Given the description of an element on the screen output the (x, y) to click on. 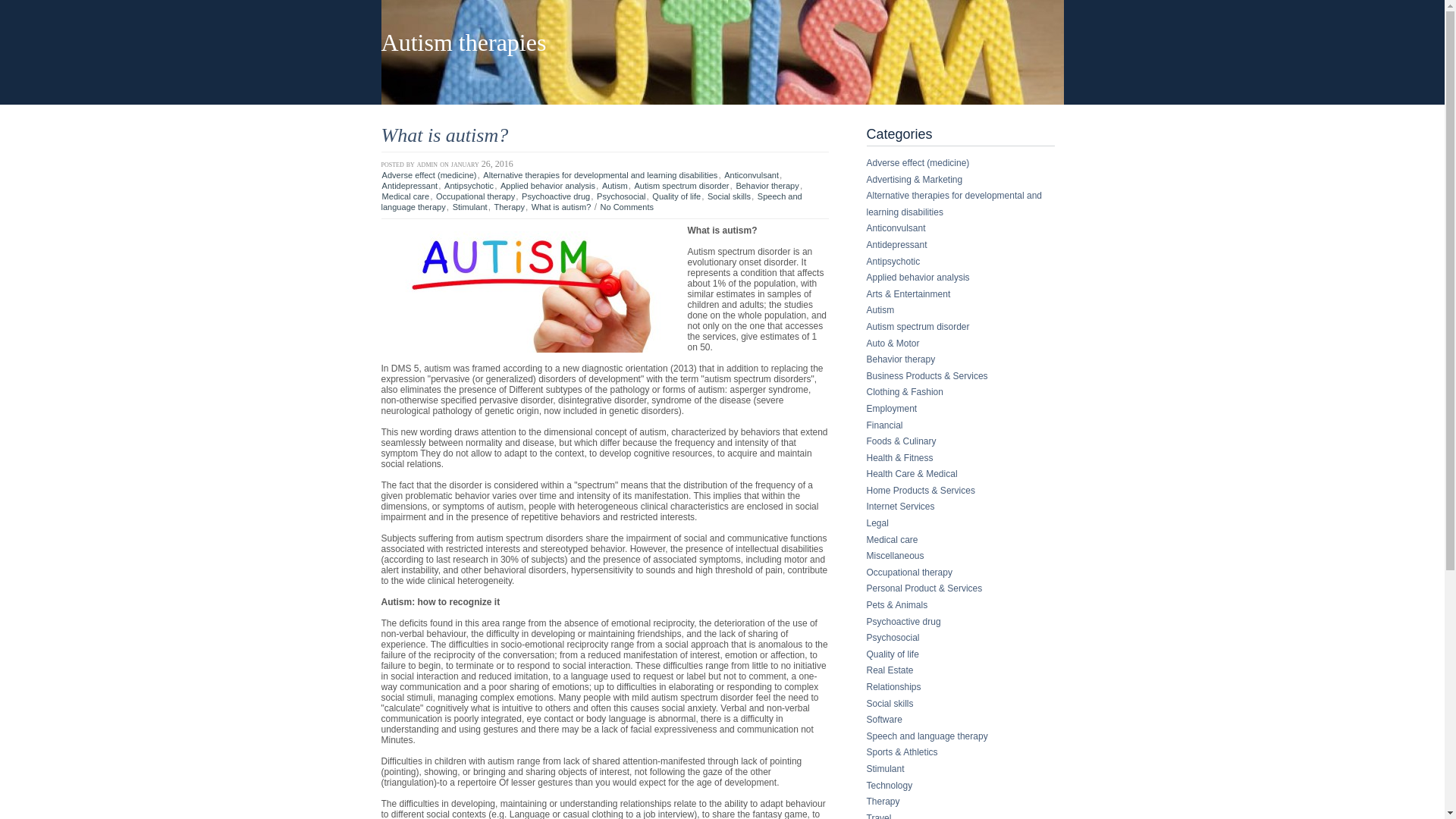
Business Products & Services Element type: text (926, 375)
Medical care Element type: text (404, 196)
Arts & Entertainment Element type: text (908, 293)
Autism spectrum disorder Element type: text (917, 326)
Auto & Motor Element type: text (892, 343)
Autism Element type: text (614, 185)
Social skills Element type: text (889, 703)
Applied behavior analysis Element type: text (917, 277)
Relationships Element type: text (893, 686)
Occupational therapy Element type: text (908, 572)
Occupational therapy Element type: text (475, 196)
Antidepressant Element type: text (409, 185)
Psychoactive drug Element type: text (903, 621)
Foods & Culinary Element type: text (900, 441)
Stimulant Element type: text (469, 206)
Quality of life Element type: text (892, 654)
Software Element type: text (883, 719)
Therapy Element type: text (882, 801)
Clothing & Fashion Element type: text (904, 391)
Technology Element type: text (889, 785)
Antipsychotic Element type: text (892, 261)
Financial Element type: text (884, 425)
Employment Element type: text (891, 408)
Health & Fitness Element type: text (899, 457)
Psychoactive drug Element type: text (555, 196)
Health Care & Medical Element type: text (911, 473)
Legal Element type: text (877, 522)
Behavior therapy Element type: text (767, 185)
What is autism? Element type: text (444, 135)
Antipsychotic Element type: text (468, 185)
Sports & Athletics Element type: text (901, 751)
Medical care Element type: text (891, 539)
Speech and language therapy Element type: text (926, 736)
Adverse effect (medicine) Element type: text (428, 174)
Internet Services Element type: text (900, 506)
Antidepressant Element type: text (896, 244)
Therapy Element type: text (508, 206)
Autism spectrum disorder Element type: text (681, 185)
Miscellaneous Element type: text (894, 555)
Advertising & Marketing Element type: text (914, 179)
Autism Element type: text (880, 309)
Anticonvulsant Element type: text (751, 174)
What is autism? Element type: text (561, 206)
Applied behavior analysis Element type: text (547, 185)
Behavior therapy Element type: text (900, 359)
Pets & Animals Element type: text (896, 604)
Autism therapies Element type: text (463, 42)
Psychosocial Element type: text (892, 637)
Real Estate Element type: text (889, 670)
Social skills Element type: text (728, 196)
Quality of life Element type: text (676, 196)
Personal Product & Services Element type: text (924, 588)
Anticonvulsant Element type: text (895, 227)
Stimulant Element type: text (884, 768)
Adverse effect (medicine) Element type: text (917, 162)
No Comments Element type: text (626, 206)
Speech and language therapy Element type: text (590, 201)
Home Products & Services Element type: text (920, 490)
Psychosocial Element type: text (621, 196)
